Given the description of an element on the screen output the (x, y) to click on. 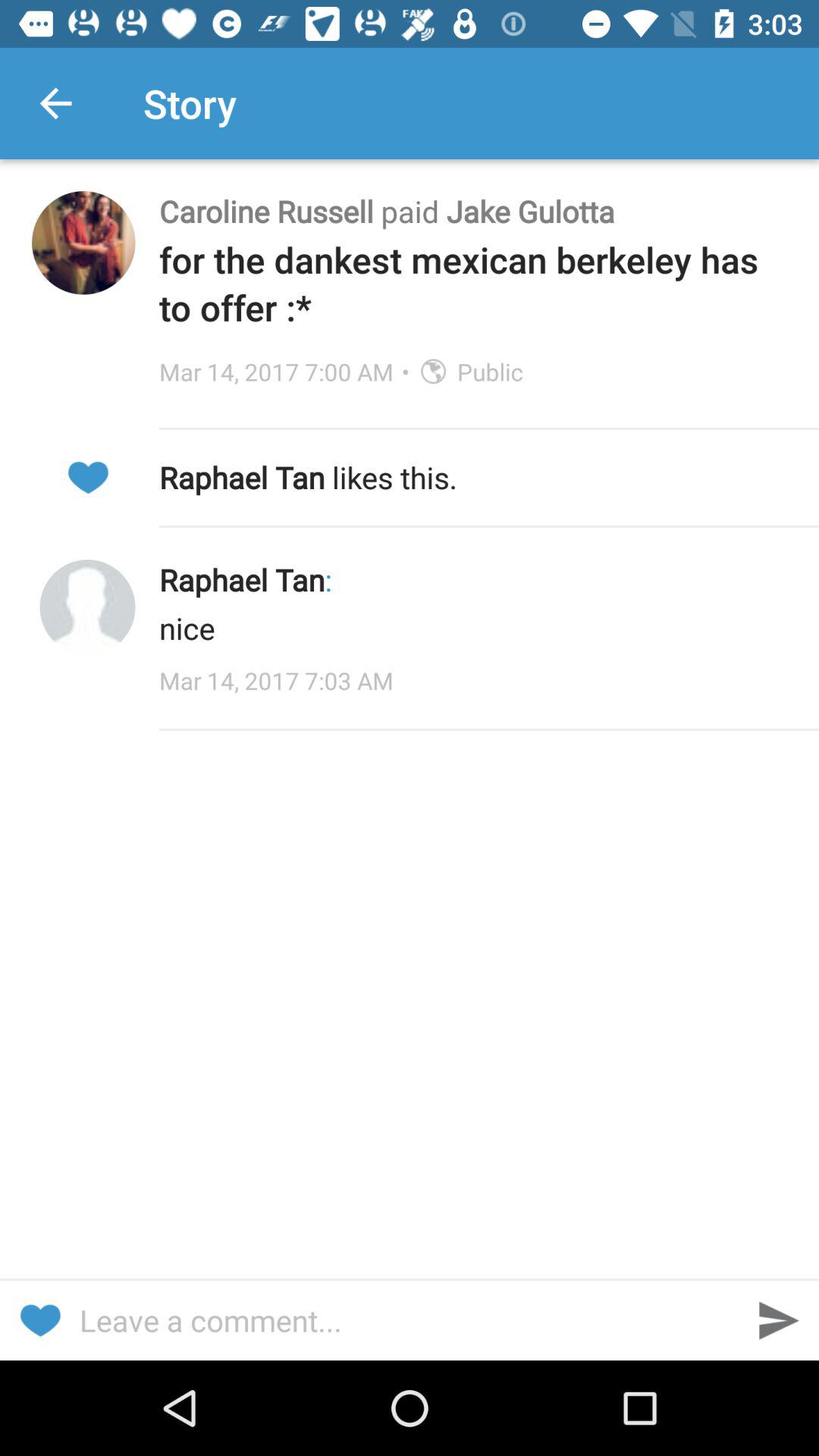
like (39, 1320)
